Given the description of an element on the screen output the (x, y) to click on. 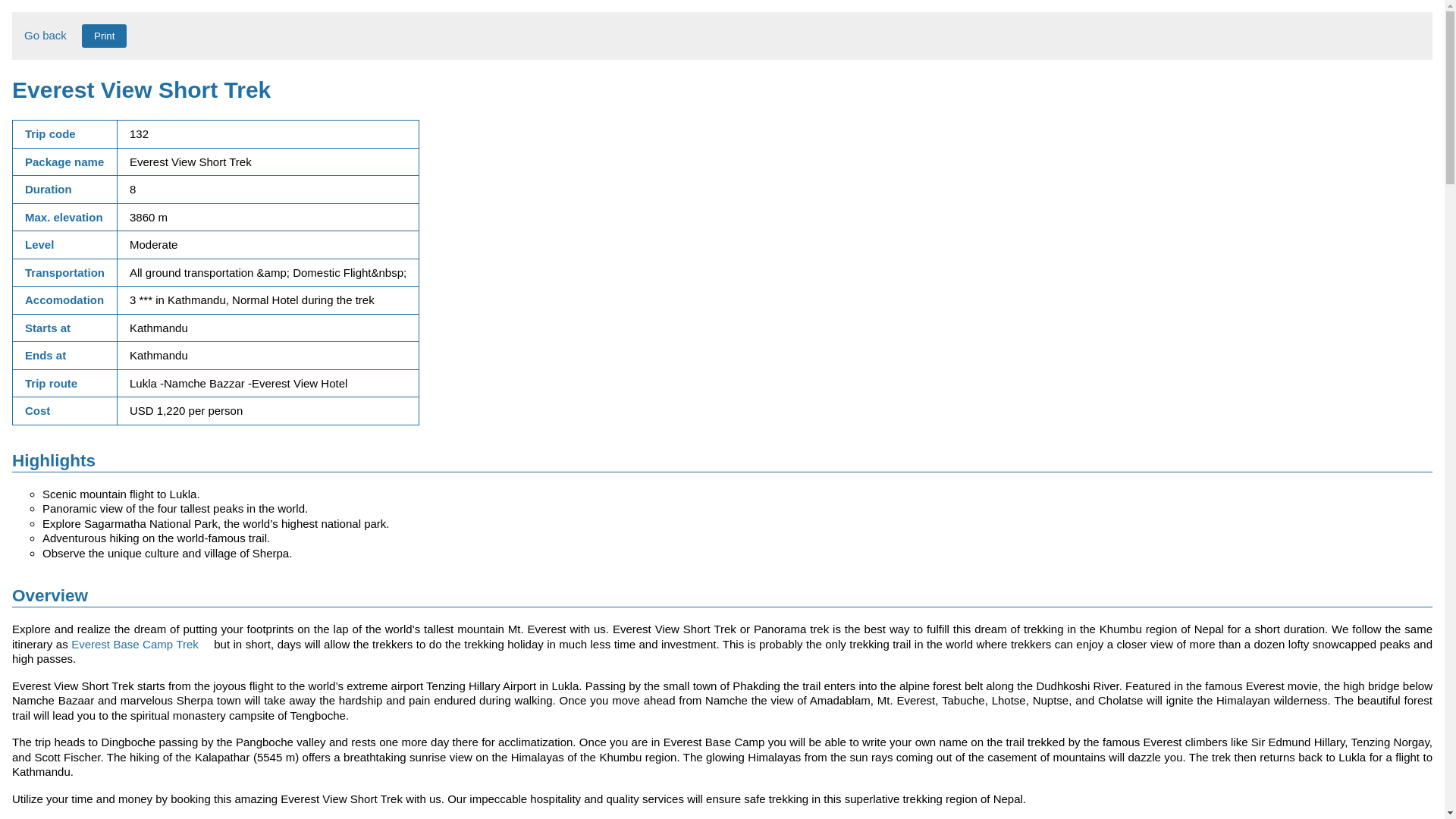
Print (103, 35)
Go back (45, 34)
Everest Base Camp Trek (136, 644)
